Given the description of an element on the screen output the (x, y) to click on. 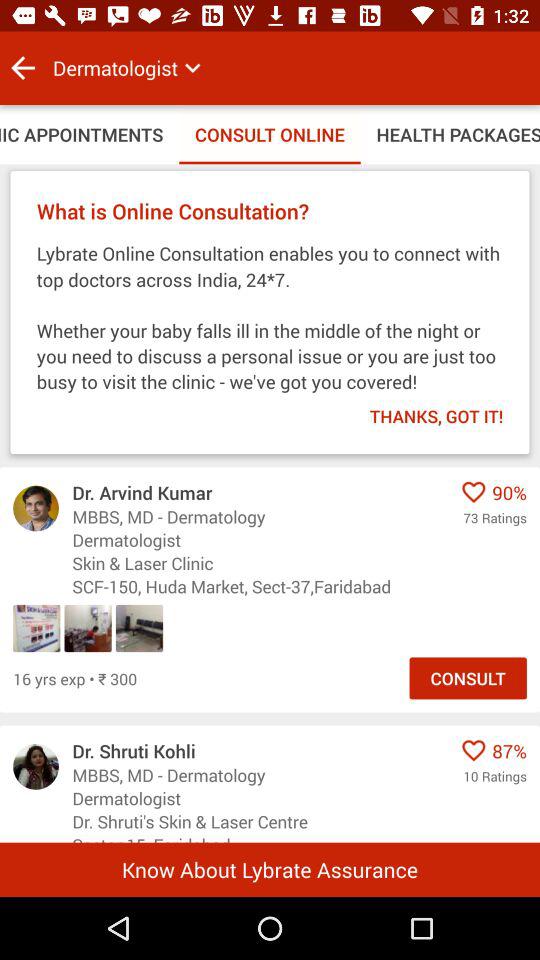
select thanks, got it! (423, 410)
